Given the description of an element on the screen output the (x, y) to click on. 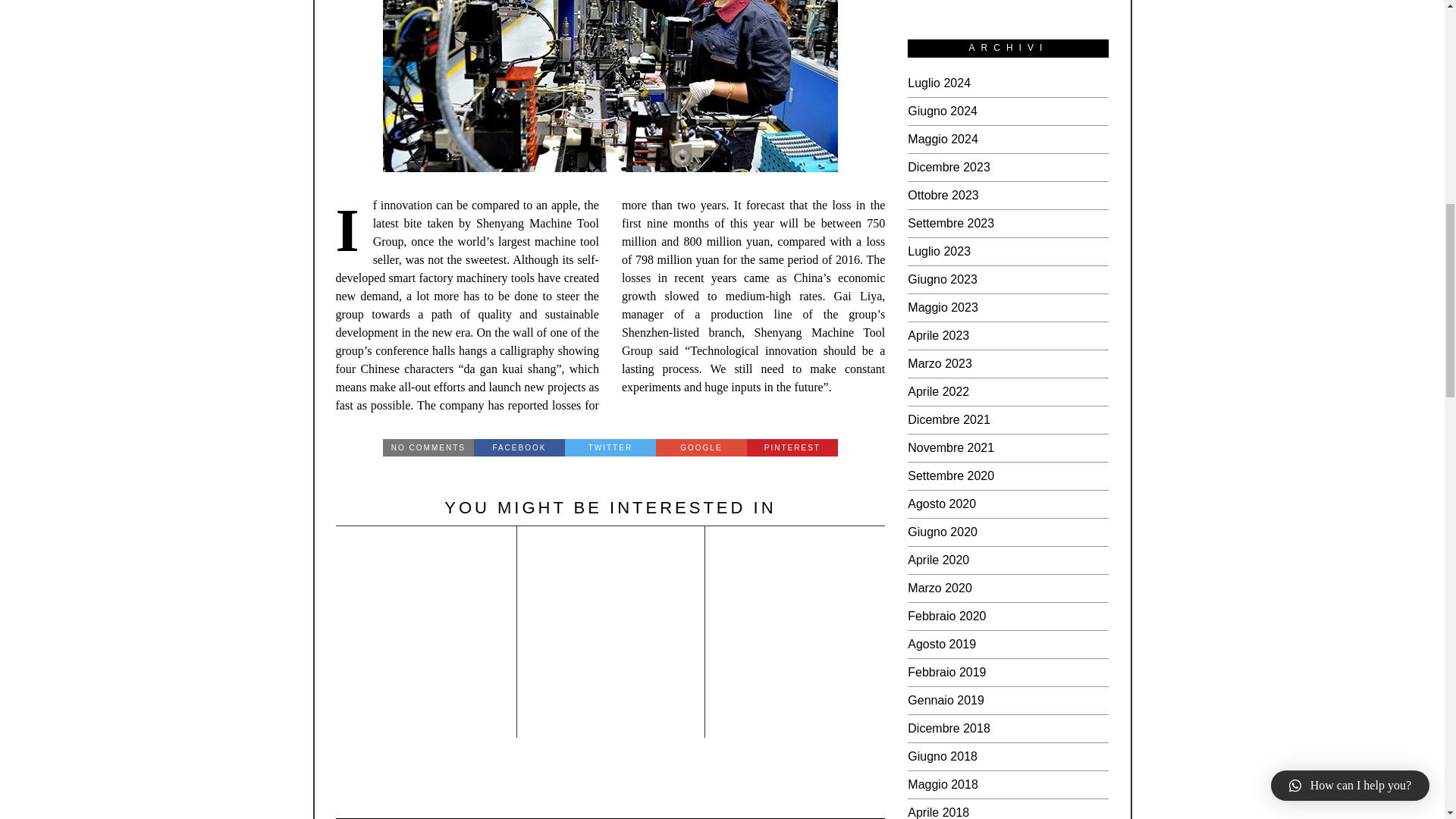
PINTEREST (792, 447)
Twitter (610, 447)
TWITTER (610, 447)
Facebook (519, 447)
Pinterest (792, 447)
GOOGLE (701, 447)
NO COMMENTS (428, 447)
FACEBOOK (519, 447)
